Given the description of an element on the screen output the (x, y) to click on. 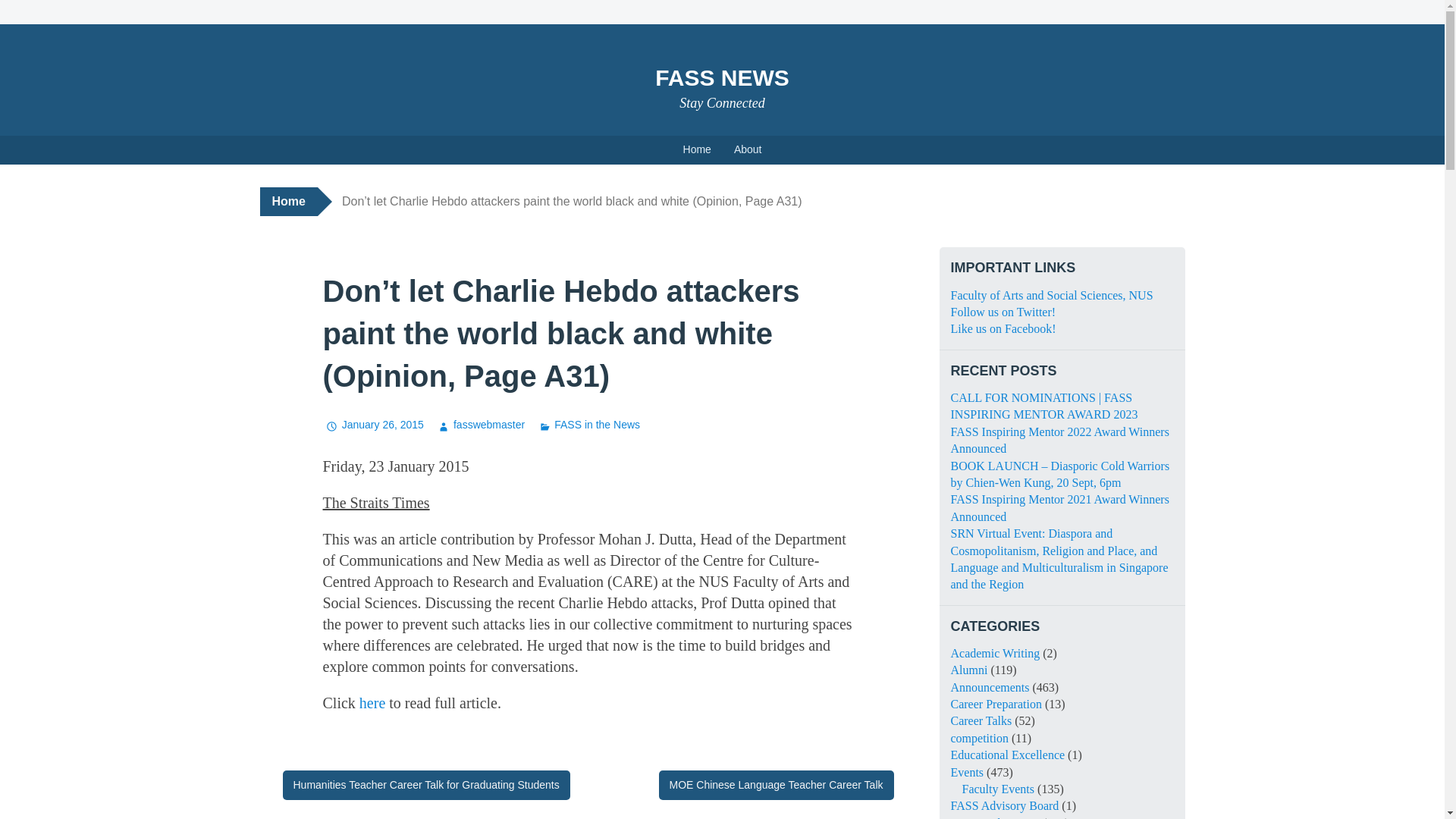
About (747, 149)
Follow us on Twitter! (1003, 311)
Home site Faculty of Arts and Social Sciences (1051, 295)
Home (288, 201)
FASS in the News (995, 817)
fasswebmaster (478, 424)
Faculty of Arts and Social Sciences, NUS (1051, 295)
MOE Chinese Language Teacher Career Talk (776, 785)
Career Talks (980, 720)
Faculty Events (996, 788)
